Given the description of an element on the screen output the (x, y) to click on. 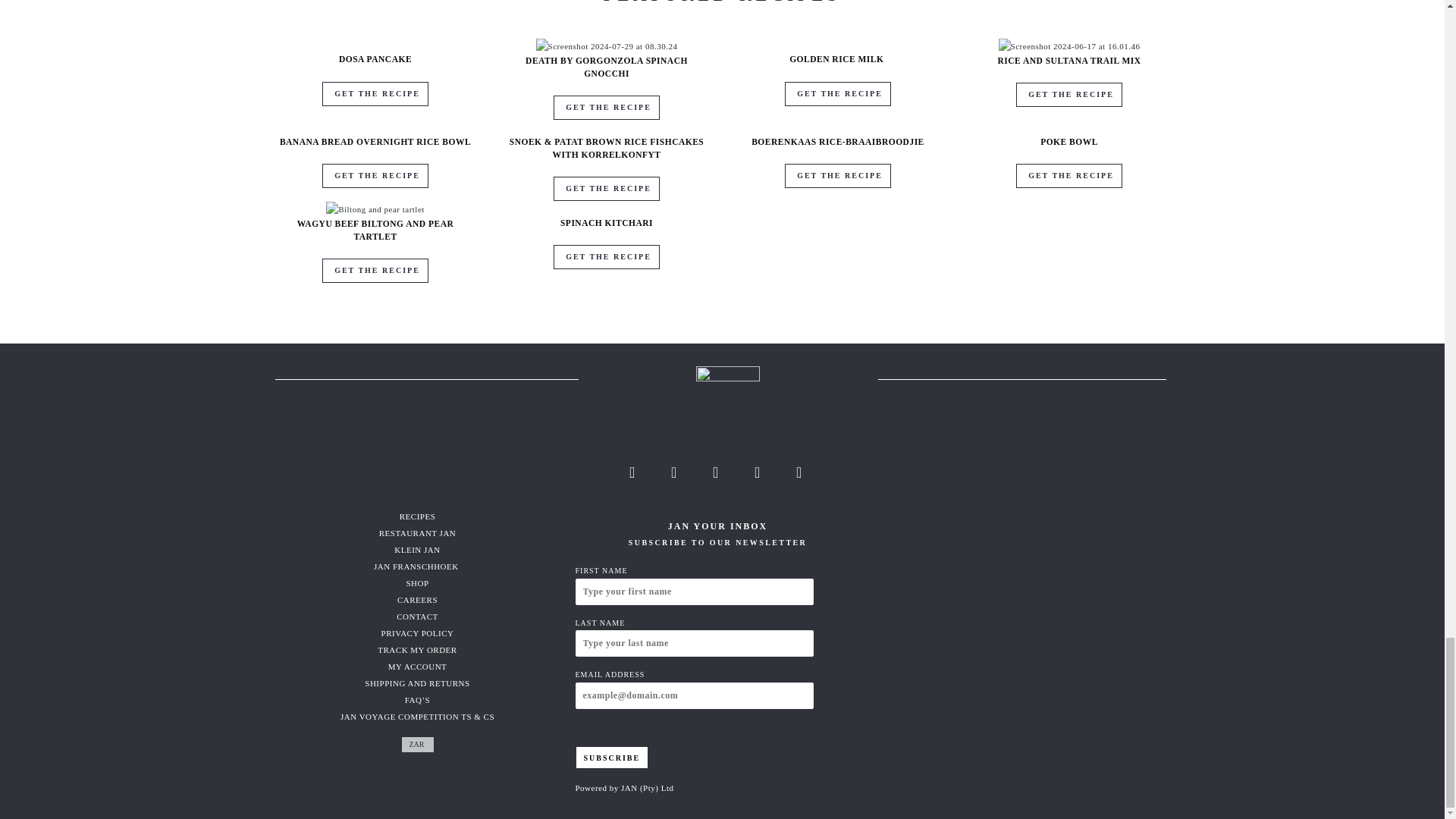
Screenshot 2024-06-17 at 16.01.46 (1069, 46)
Death by Gorgonzola Spinach Gnocchi (606, 44)
Rice And Sultana Trail Mix (1069, 44)
Screenshot 2024-07-29 at 08.30.24 (606, 46)
